Given the description of an element on the screen output the (x, y) to click on. 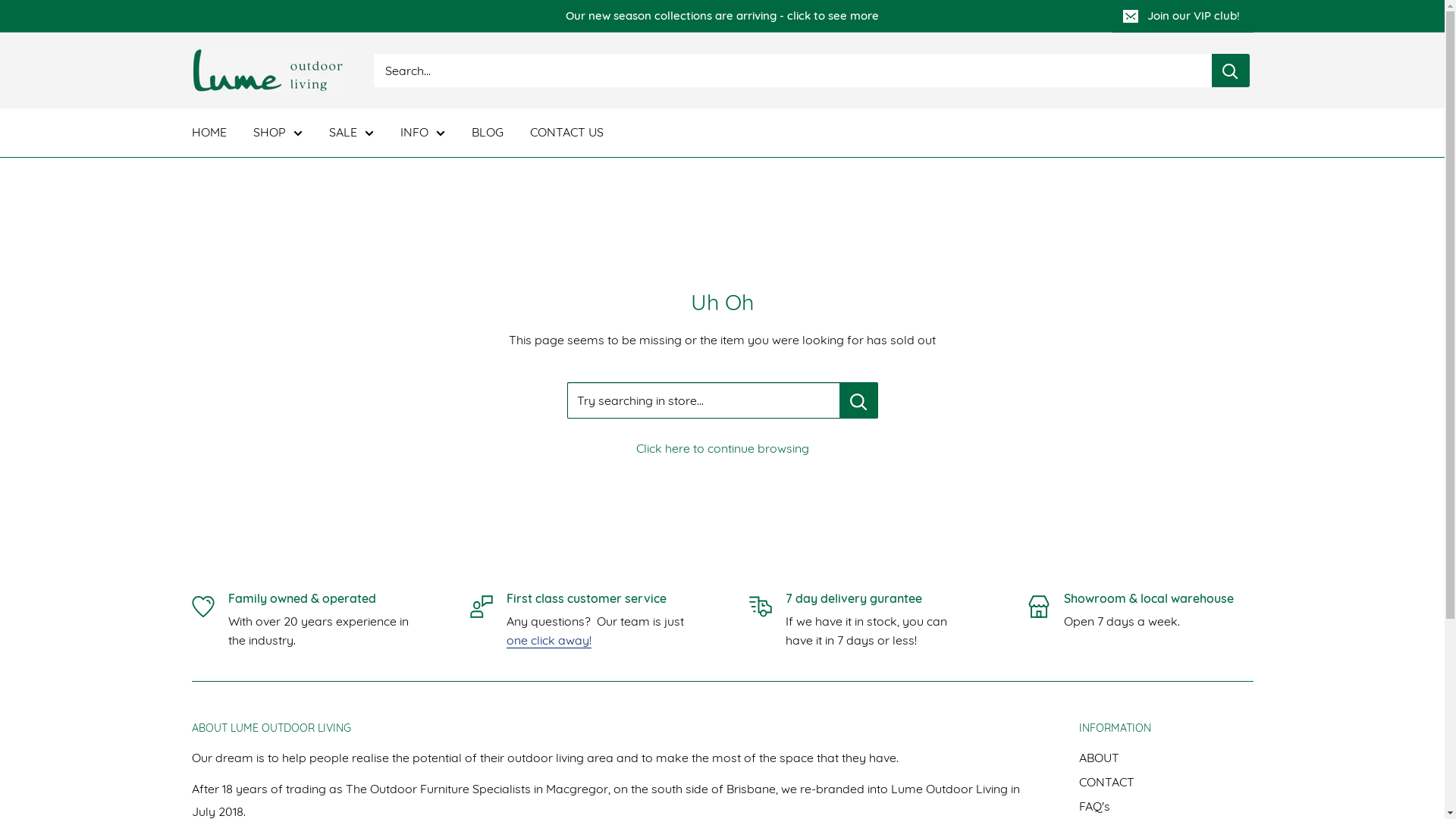
BLOG Element type: text (487, 132)
INFO Element type: text (422, 132)
Our new season collections are arriving - click to see more Element type: text (650, 15)
HOME Element type: text (208, 132)
ABOUT LUME OUTDOOR LIVING Element type: text (608, 728)
Join our VIP club! Element type: text (1182, 15)
INFORMATION Element type: text (1165, 728)
SALE Element type: text (351, 132)
Click here to continue browsing Element type: text (721, 447)
SHOP Element type: text (277, 132)
FAQ's Element type: text (1165, 805)
CONTACT US Element type: text (565, 132)
ABOUT Element type: text (1165, 757)
one click away! Element type: text (548, 639)
CONTACT Element type: text (1165, 781)
